Given the description of an element on the screen output the (x, y) to click on. 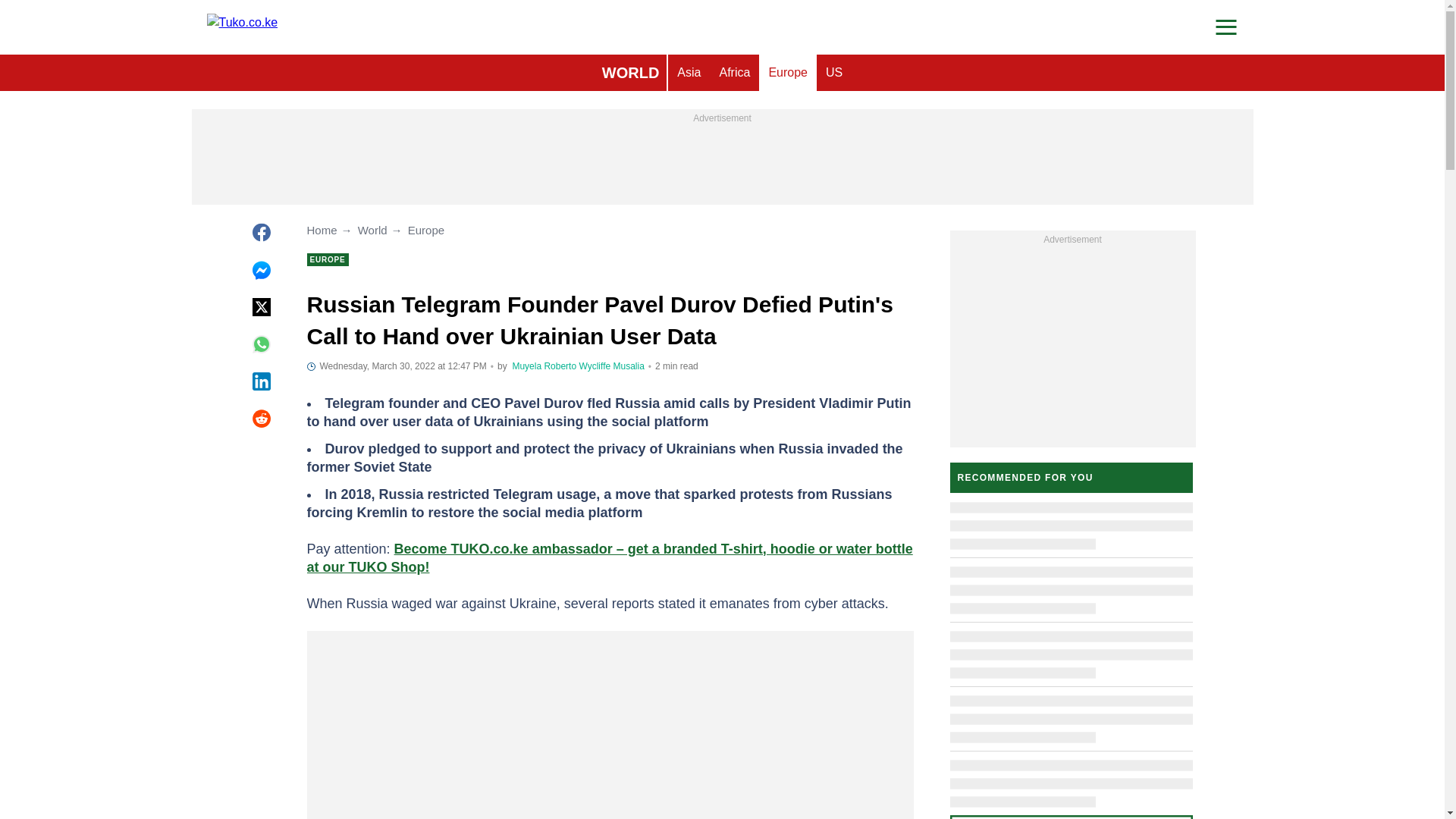
US (833, 72)
Author page (610, 366)
Africa (734, 72)
WORLD (630, 72)
Europe (787, 72)
Asia (689, 72)
Author page (544, 366)
